Given the description of an element on the screen output the (x, y) to click on. 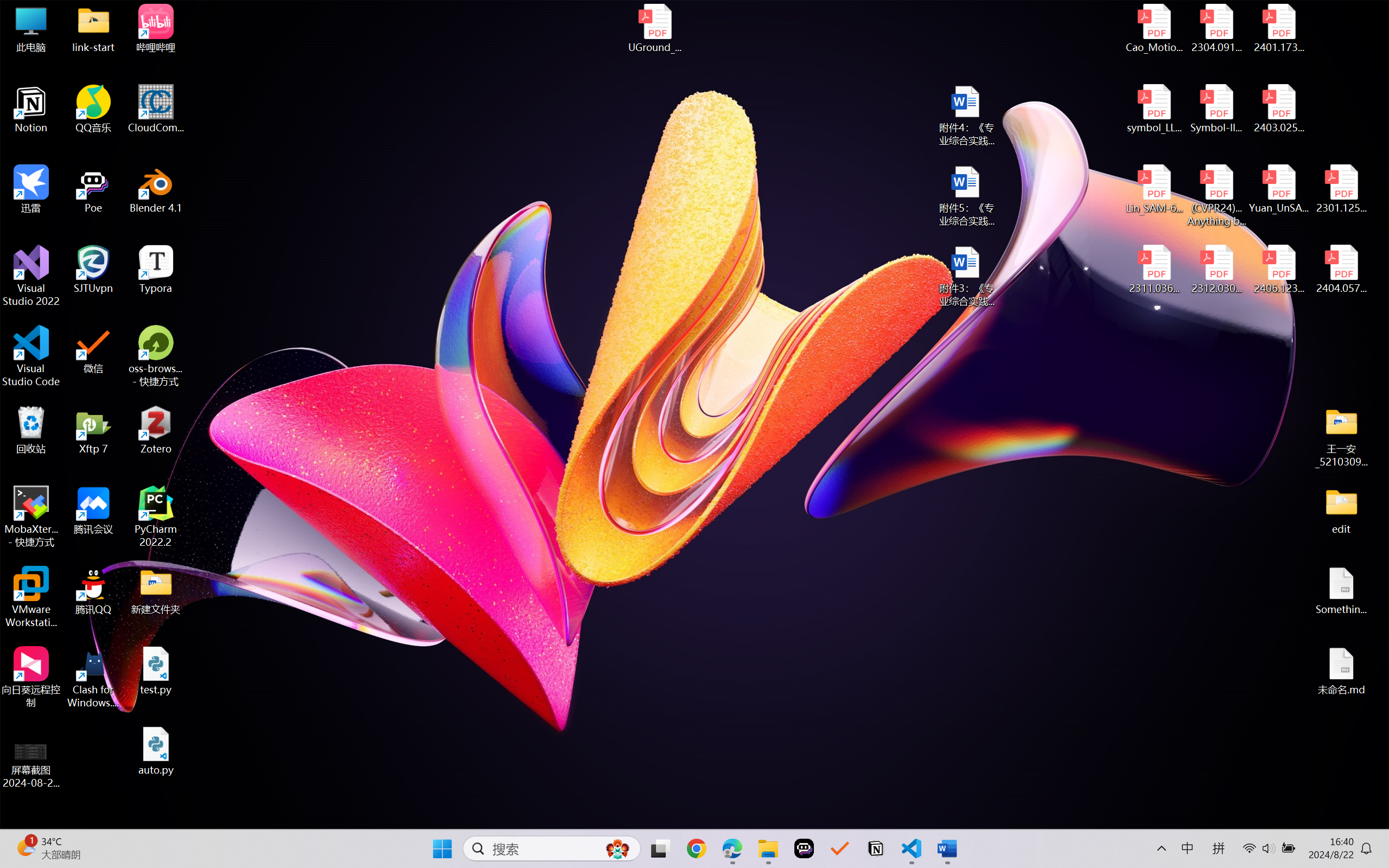
PyCharm 2022.2 (156, 516)
Xftp 7 (93, 430)
Google Chrome (696, 848)
CloudCompare (156, 109)
2311.03658v2.pdf (1154, 269)
(CVPR24)Matching Anything by Segmenting Anything.pdf (1216, 195)
2404.05719v1.pdf (1340, 269)
